Given the description of an element on the screen output the (x, y) to click on. 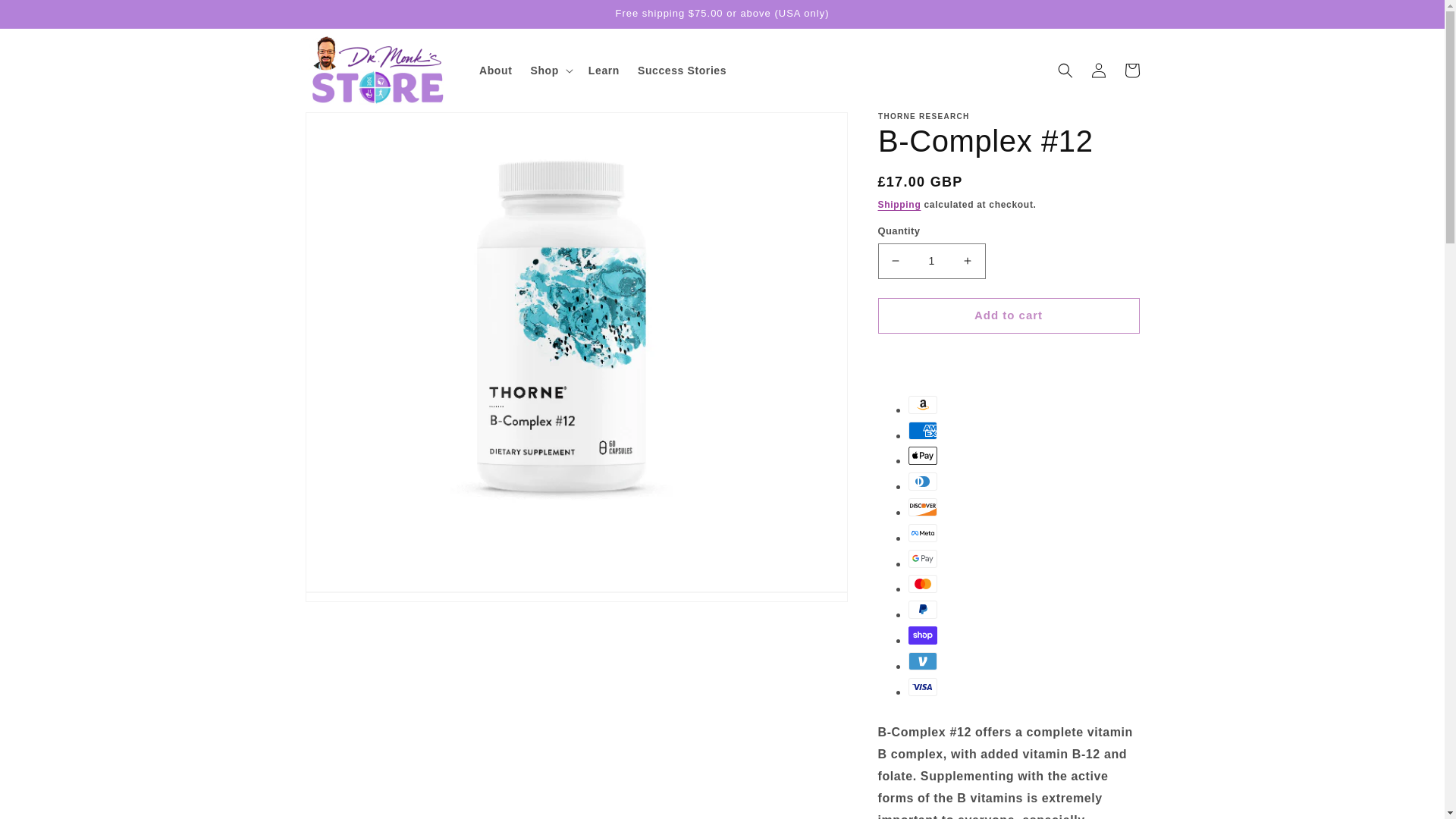
Mastercard (922, 583)
Skip to content (45, 17)
Add to cart (1008, 315)
Skip to product information (350, 129)
PayPal (922, 609)
Log in (1098, 70)
1 (931, 261)
Google Pay (922, 558)
Venmo (922, 660)
Learn (603, 70)
